Given the description of an element on the screen output the (x, y) to click on. 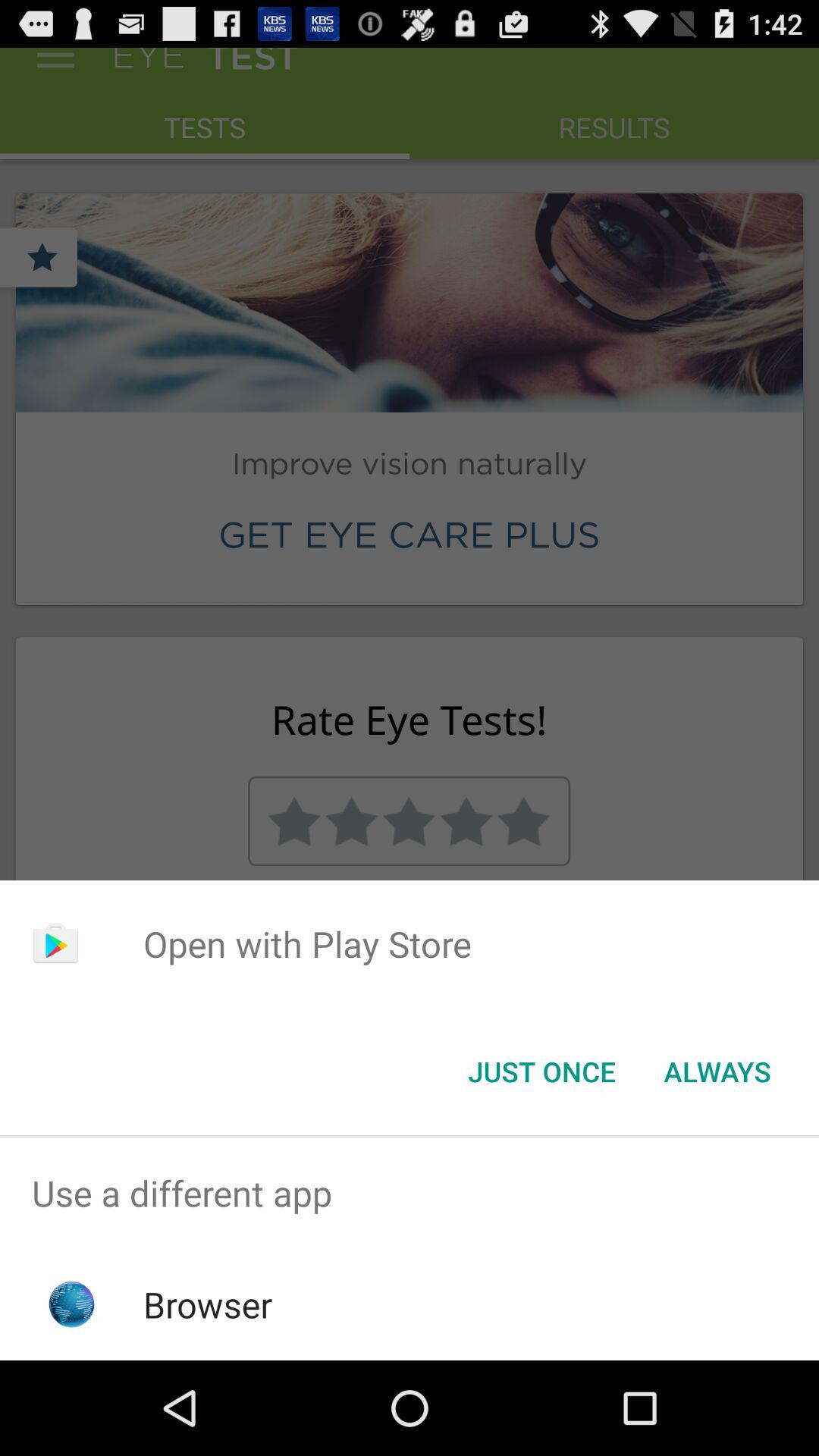
click item below the open with play item (717, 1071)
